Given the description of an element on the screen output the (x, y) to click on. 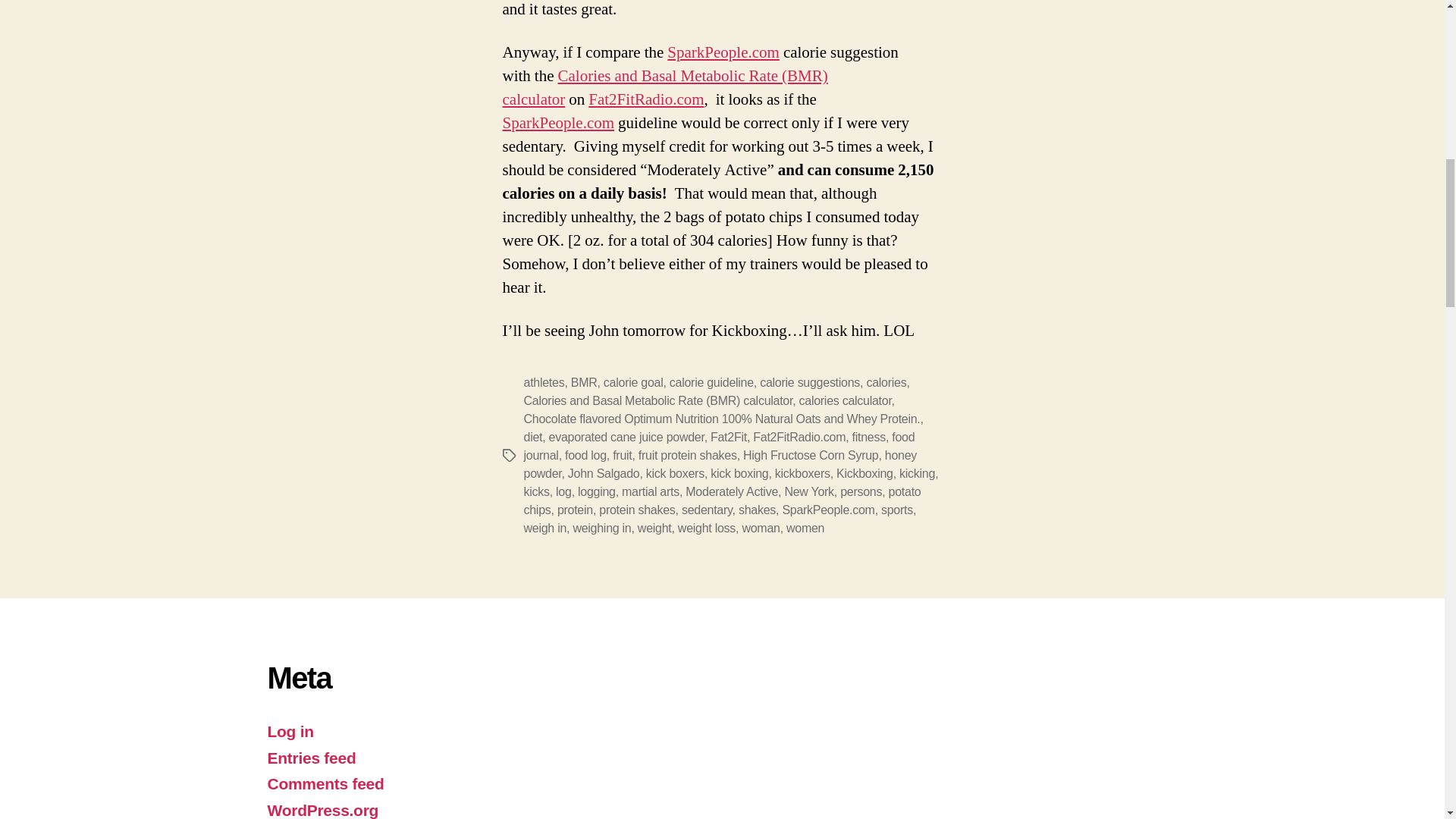
athletes (543, 382)
SparkPeople.com (722, 52)
Sparkpeople.com (558, 123)
Fat2FitRadio.com (645, 99)
SparkPeople.com (722, 52)
Fat2FitRadio.com (645, 99)
SparkPeople.com (558, 123)
BMR (583, 382)
